Given the description of an element on the screen output the (x, y) to click on. 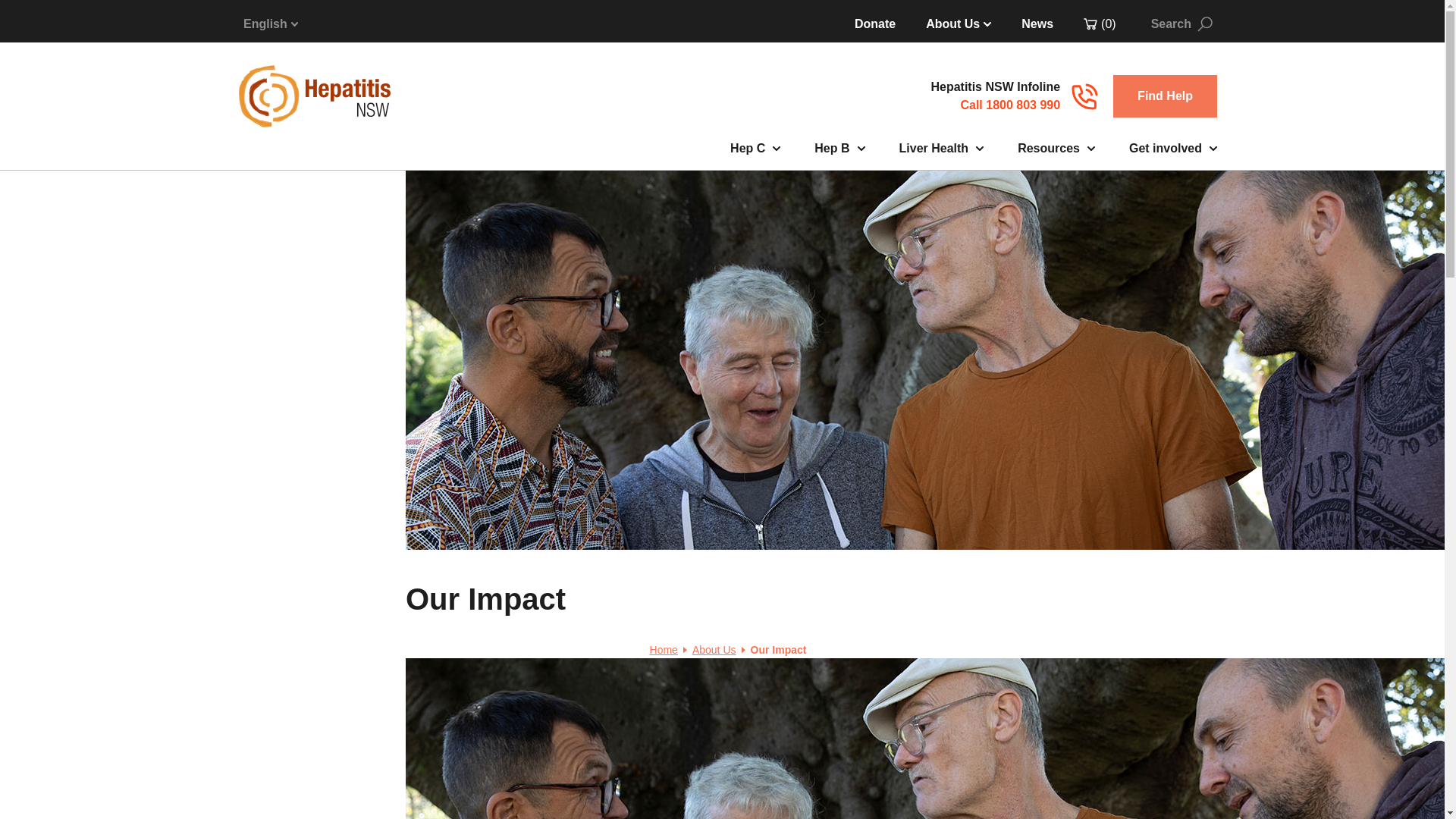
Hepatitis NSW (314, 96)
Donate (874, 24)
Find Help (1165, 96)
Hep C (755, 148)
Search (1182, 23)
News (994, 95)
English (1037, 24)
About Us (270, 23)
